Given the description of an element on the screen output the (x, y) to click on. 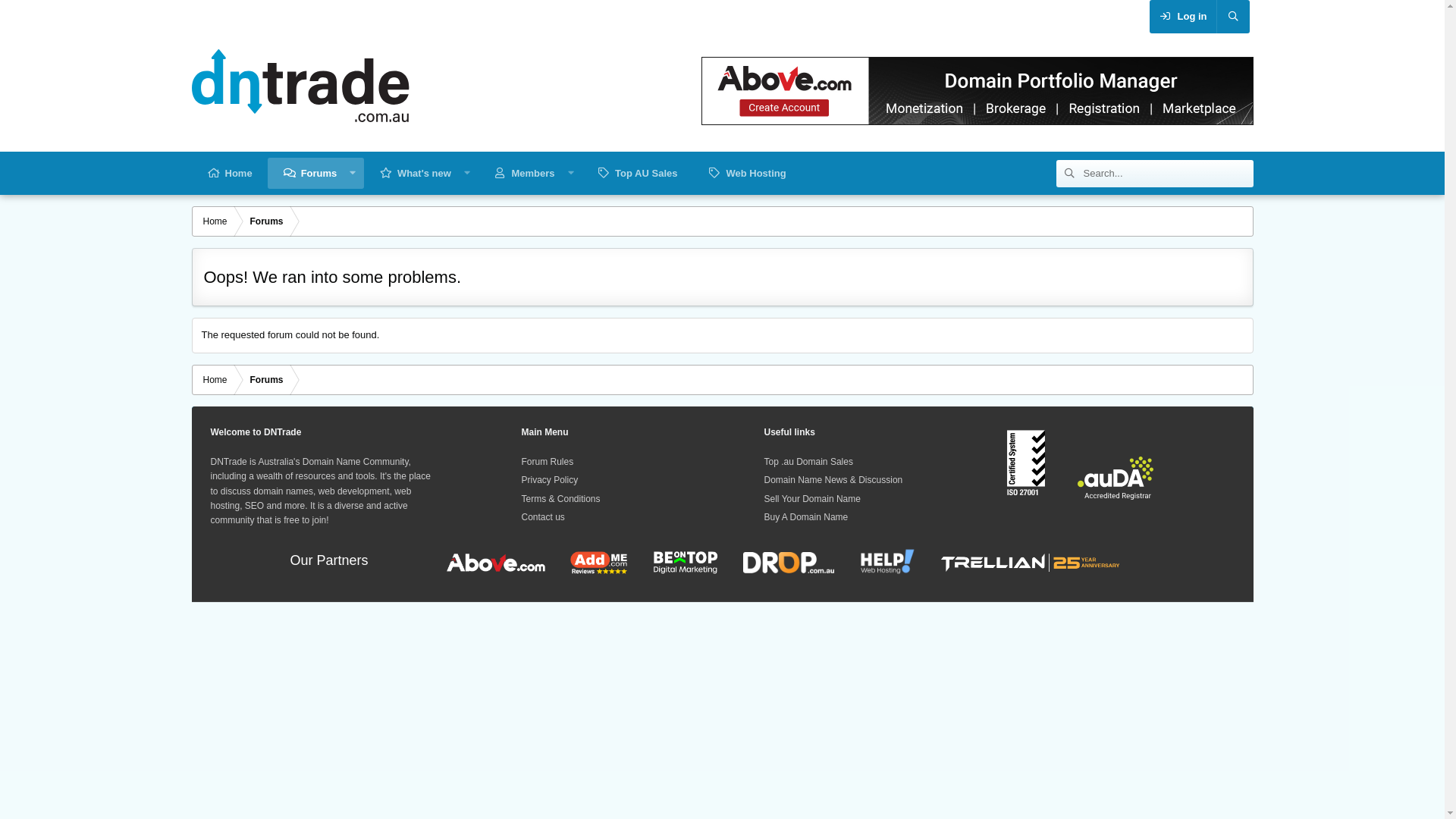
Buy A Domain Name Element type: text (806, 516)
Sell Your Domain Name Element type: text (812, 498)
Trellian.com - Premium Traffic Element type: hover (1020, 561)
Top AU Sales Element type: text (636, 172)
Privacy Policy Element type: text (549, 479)
Forums Element type: text (266, 221)
Help.com.au - AU Website Hosting Element type: hover (875, 561)
Web Hosting Element type: text (746, 172)
Domain Name News & Discussion Element type: text (833, 479)
Catch Expiring .au Domains Element type: hover (777, 561)
Home Element type: text (214, 379)
Forums Element type: text (266, 379)
Forum Rules Element type: text (547, 461)
auDa Accredited Registrar Element type: hover (1115, 477)
Top .au Domain Sales Element type: text (808, 461)
Log in Element type: text (1182, 16)
Forums Element type: text (309, 172)
BeOnTop.com - Digital Marketing Agency Element type: hover (674, 561)
Members Element type: text (523, 172)
Contact us Element type: text (542, 516)
What's new Element type: text (415, 172)
Above.com - Domain Portfolio Manager Element type: hover (495, 561)
Addme.com - Reputation Management Element type: hover (587, 561)
Terms & Conditions Element type: text (560, 498)
Home Element type: text (214, 221)
Home Element type: text (228, 172)
ISO 27001 Certified Element type: hover (1025, 462)
